Given the description of an element on the screen output the (x, y) to click on. 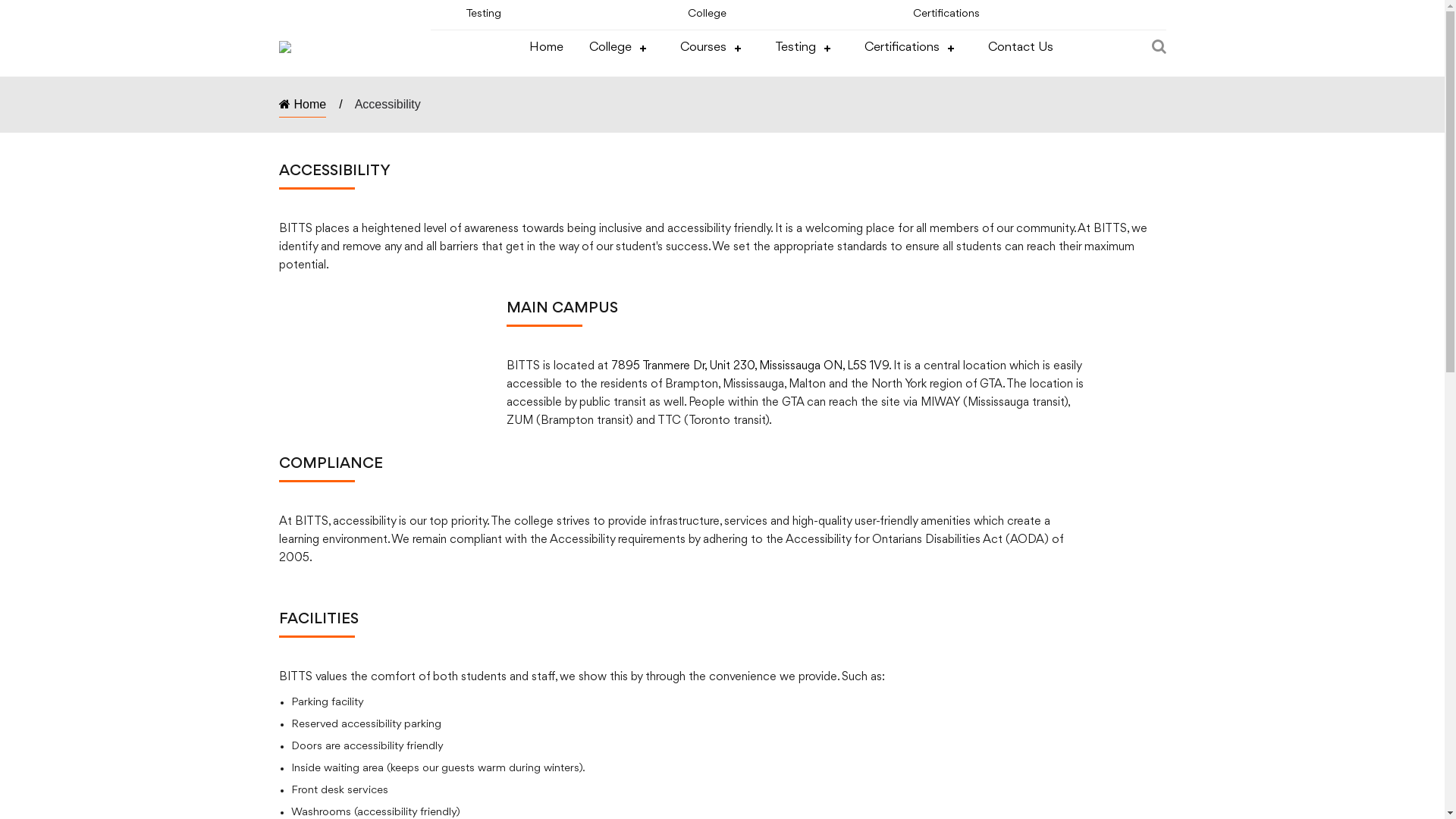
Home Element type: text (546, 47)
Contact Us Element type: text (1019, 47)
Testing Element type: text (483, 13)
Certifications Element type: text (913, 47)
Home Element type: text (302, 107)
Courses Element type: text (713, 47)
College Element type: text (620, 47)
Testing Element type: text (806, 47)
7895 Tranmere Dr, Unit 230, Mississauga ON, L5S 1V9 Element type: text (749, 366)
College Element type: text (706, 13)
Certifications Element type: text (946, 13)
